Given the description of an element on the screen output the (x, y) to click on. 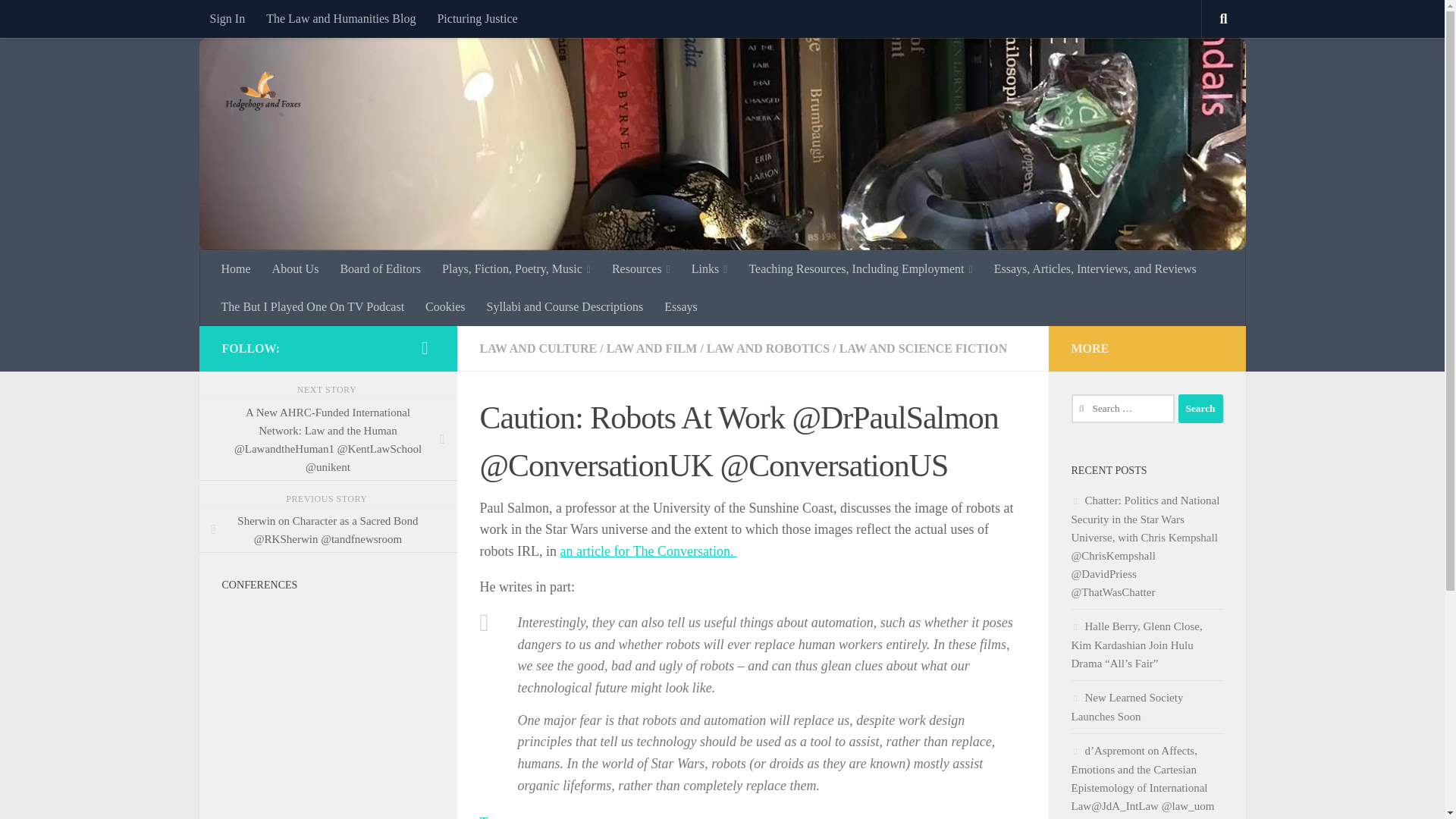
The Law and Humanities Blog (341, 18)
About Us (296, 269)
Skip to content (59, 20)
Follow us on Twitter (423, 348)
Resources (641, 269)
Plays, Fiction, Poetry, Music (515, 269)
Search (1200, 408)
Sign In (227, 18)
Home (236, 269)
Picturing Justice (476, 18)
Search (1200, 408)
Board of Editors (379, 269)
